Given the description of an element on the screen output the (x, y) to click on. 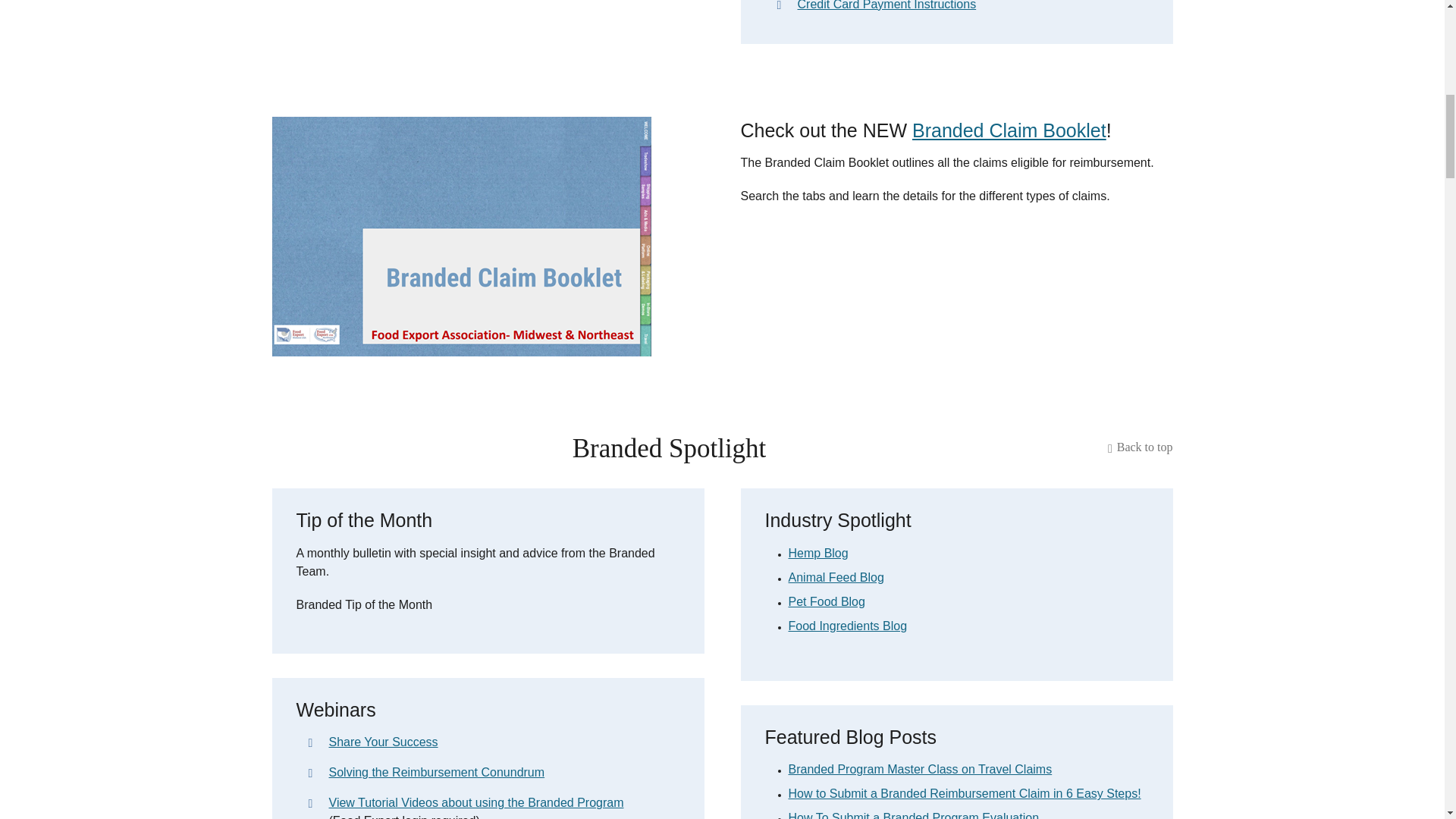
Branded Claim Booklet (460, 236)
Branded Claim Booklet (1009, 129)
Credit Card Payment Instructions (972, 6)
